Given the description of an element on the screen output the (x, y) to click on. 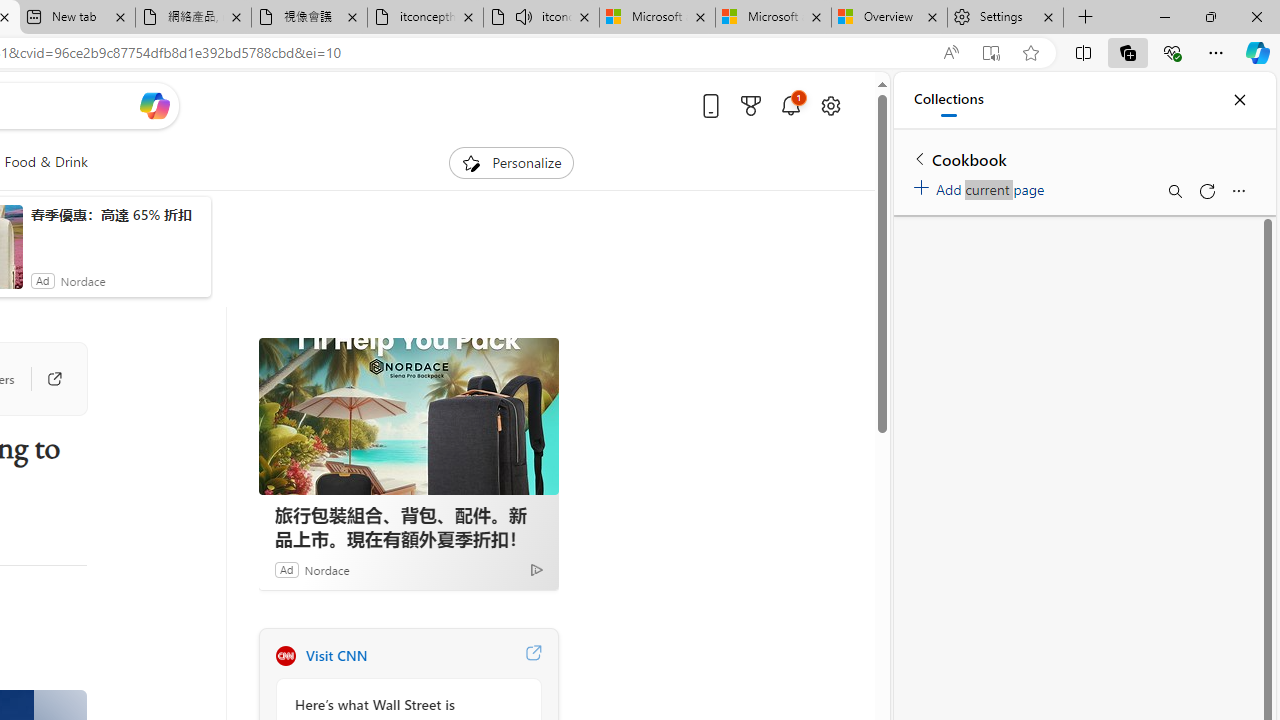
CNN (285, 655)
More options menu (1238, 190)
Personalize (511, 162)
Go to publisher's site (44, 378)
Open settings (830, 105)
Add current page (982, 186)
itconcepthk.com/projector_solutions.mp4 - Audio playing (541, 17)
